Given the description of an element on the screen output the (x, y) to click on. 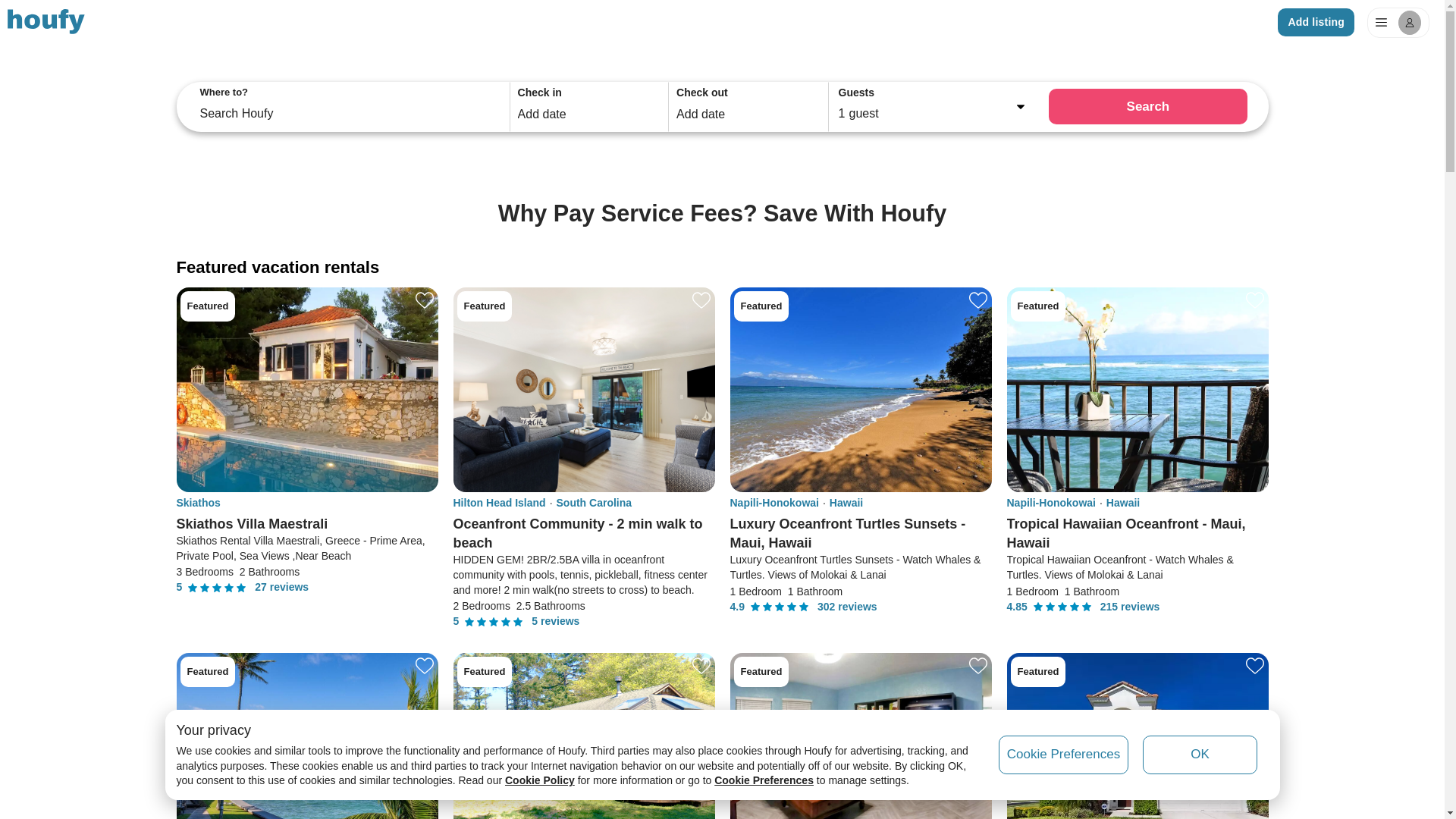
Napili-Honokowai (1051, 502)
Hawaii (1123, 502)
Hawaii (846, 502)
Add listing (1316, 22)
Hilton Head Island (499, 502)
South Carolina (593, 502)
Skiathos (197, 502)
Napili-Honokowai (773, 502)
Search (1147, 106)
